Given the description of an element on the screen output the (x, y) to click on. 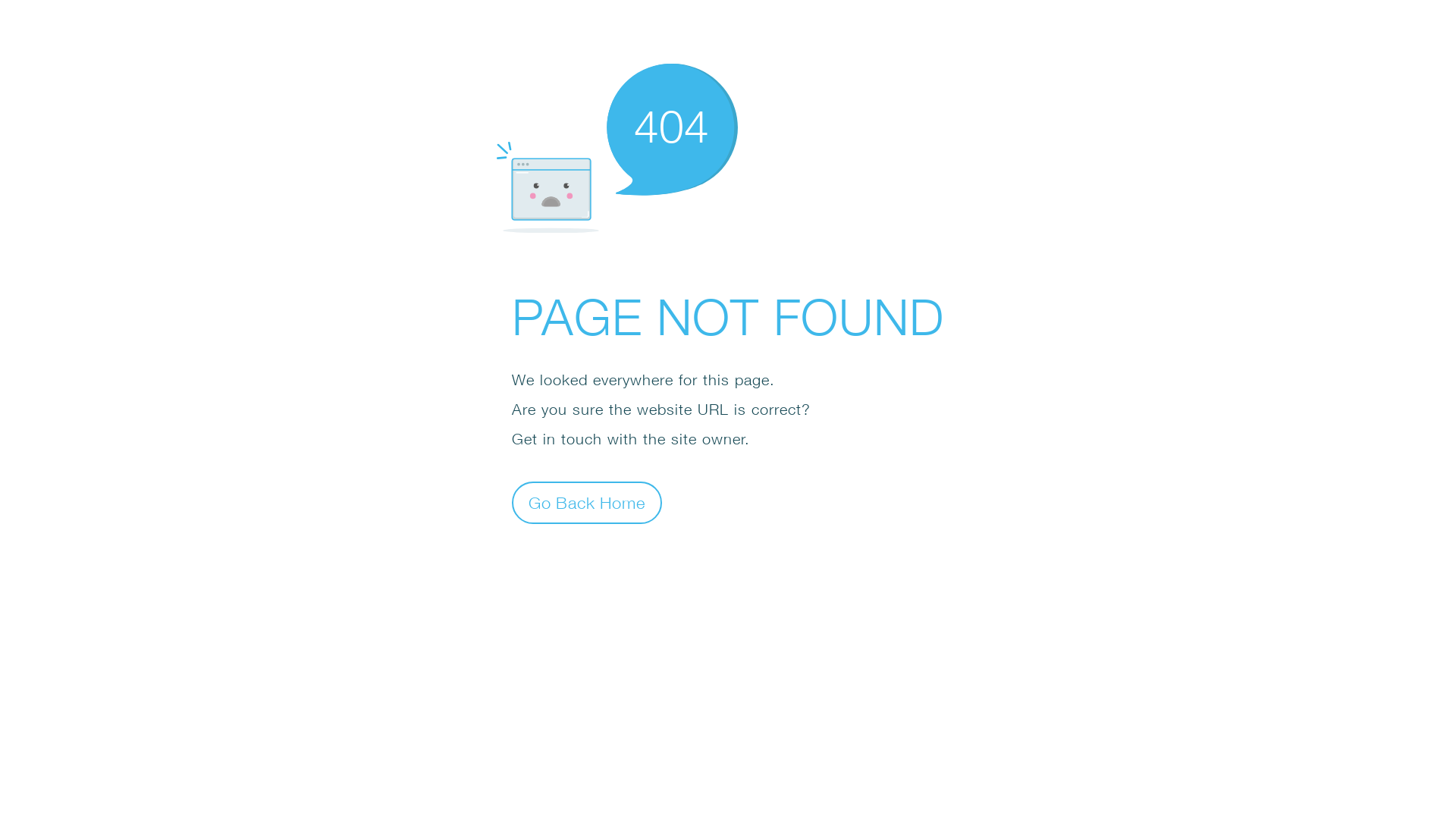
Go Back Home Element type: text (586, 502)
